Given the description of an element on the screen output the (x, y) to click on. 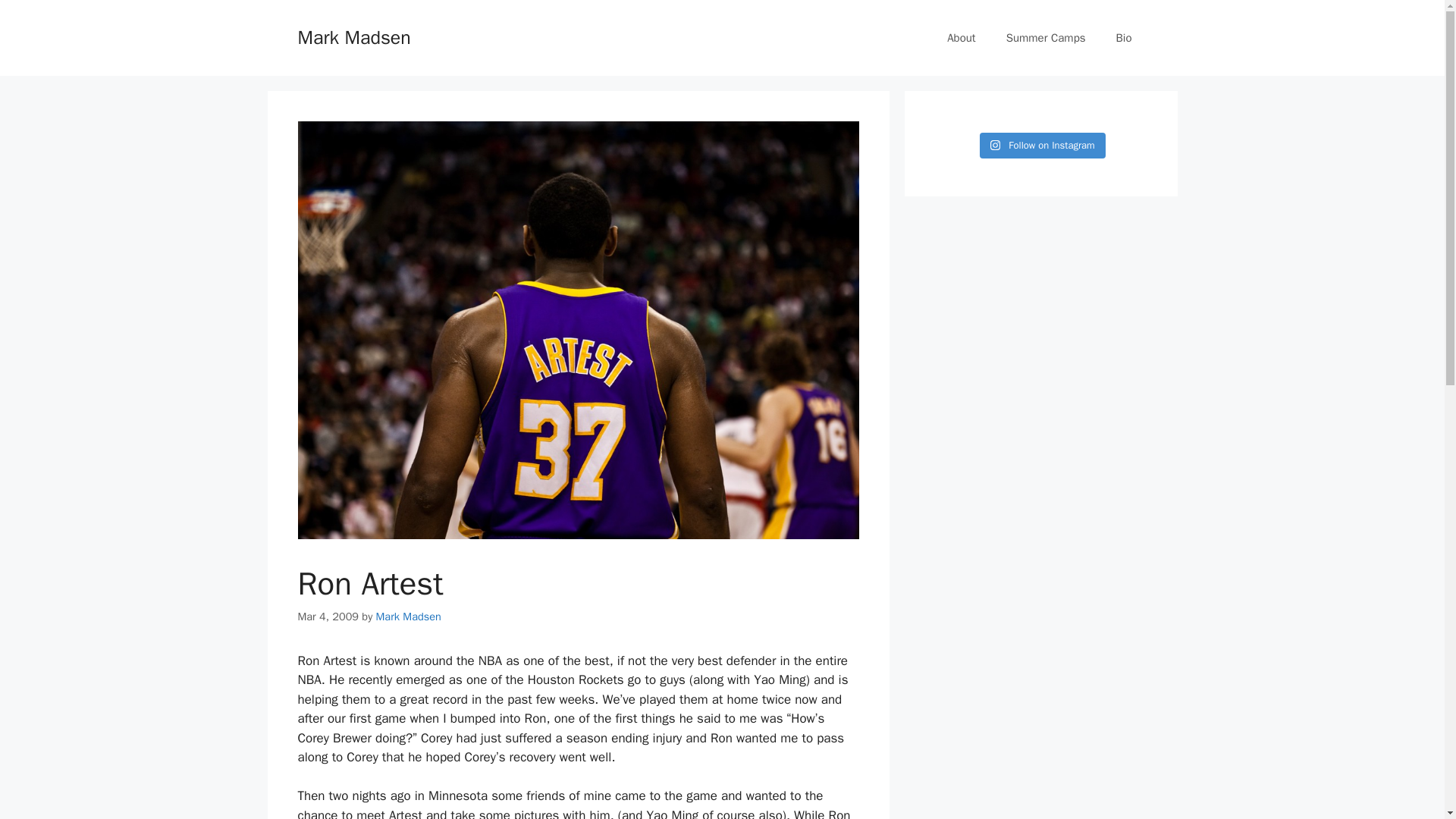
About (960, 37)
Bio (1123, 37)
Follow on Instagram (1042, 145)
Summer Camps (1045, 37)
Mark Madsen (353, 37)
Mark Madsen (408, 616)
View all posts by Mark Madsen (408, 616)
